Given the description of an element on the screen output the (x, y) to click on. 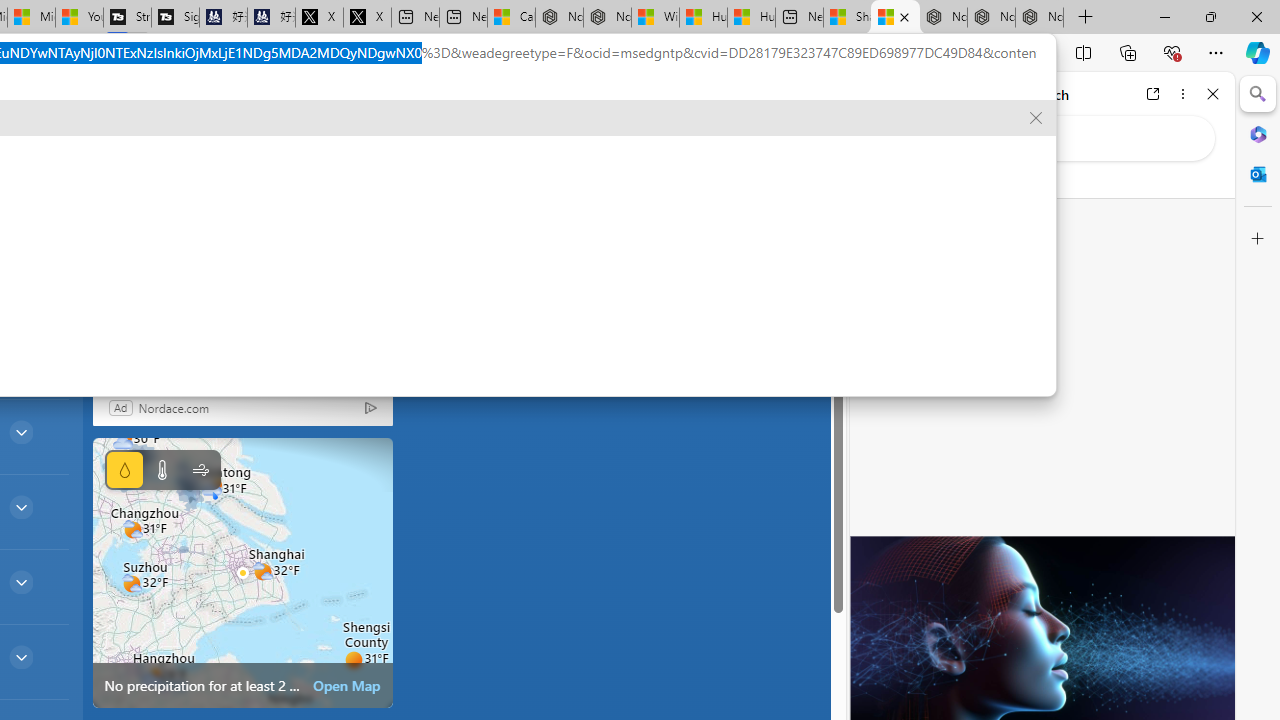
This site scope (936, 180)
Open Copilot (132, 105)
Microsoft 365 (1258, 133)
Ad (120, 407)
Nordace.com (173, 407)
common/carouselChevron (323, 214)
Wind (199, 470)
Temperature (161, 470)
Earthquakes (64, 162)
Nordace - Siena Pro 15 Essential Set (1039, 17)
